Given the description of an element on the screen output the (x, y) to click on. 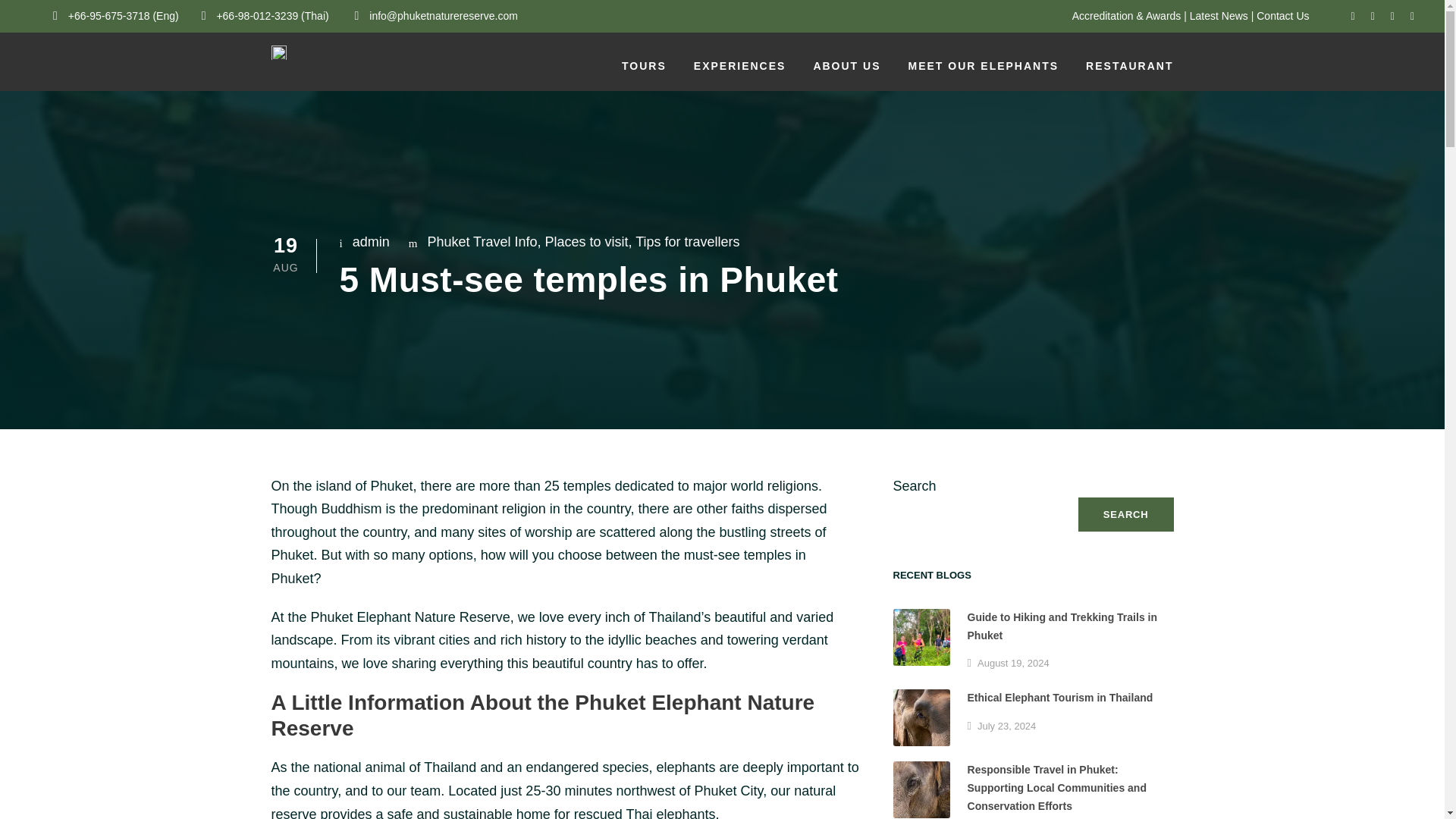
admin (371, 241)
MEET OUR ELEPHANTS (983, 73)
ABOUT US (846, 73)
TOURS (643, 73)
Posts by admin (371, 241)
Latest News (1218, 15)
EXPERIENCES (740, 73)
Elephant (921, 789)
RESTAURANT (1129, 73)
Phuket Travel Info (481, 241)
